Given the description of an element on the screen output the (x, y) to click on. 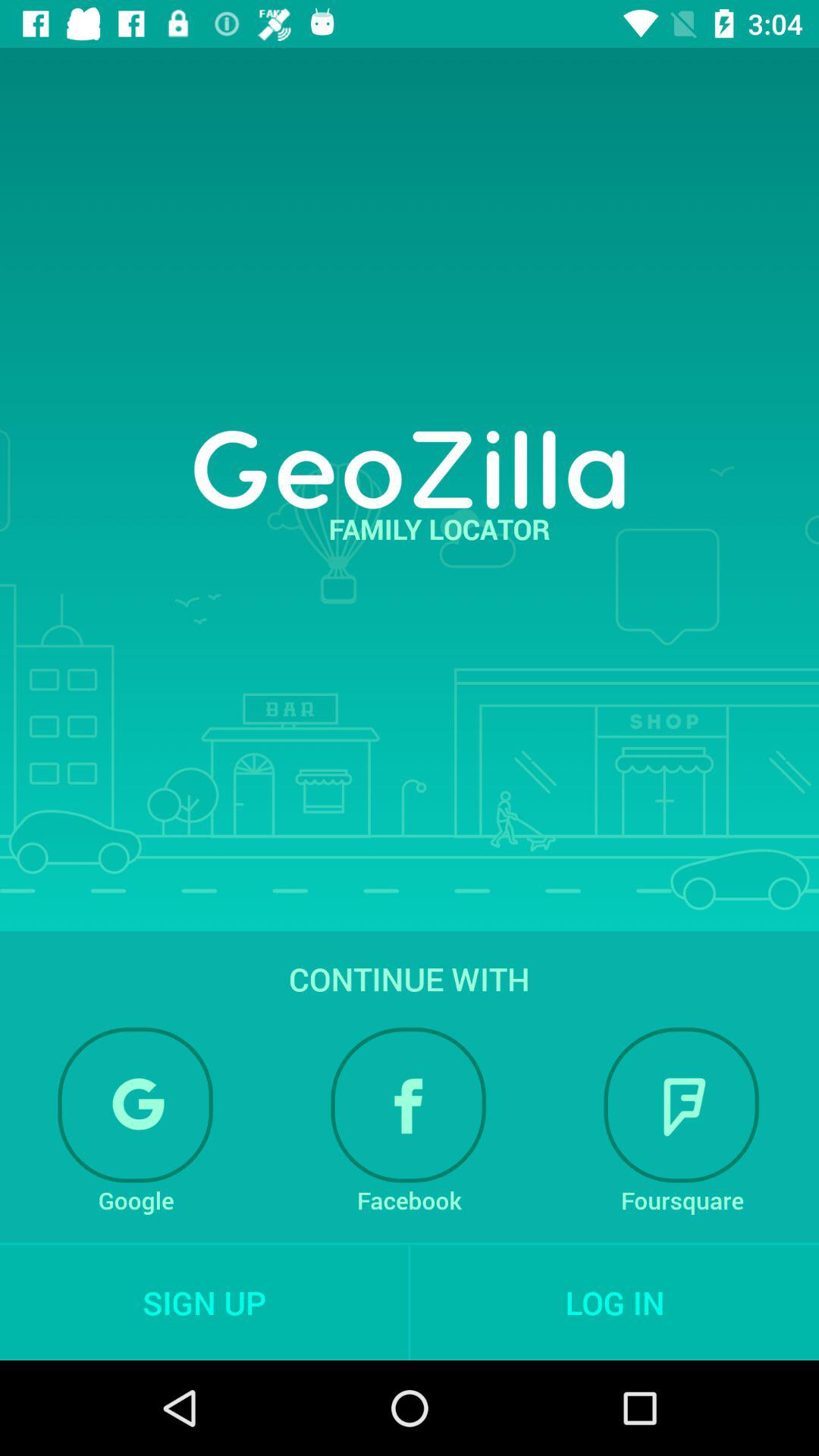
login with google account (135, 1105)
